Given the description of an element on the screen output the (x, y) to click on. 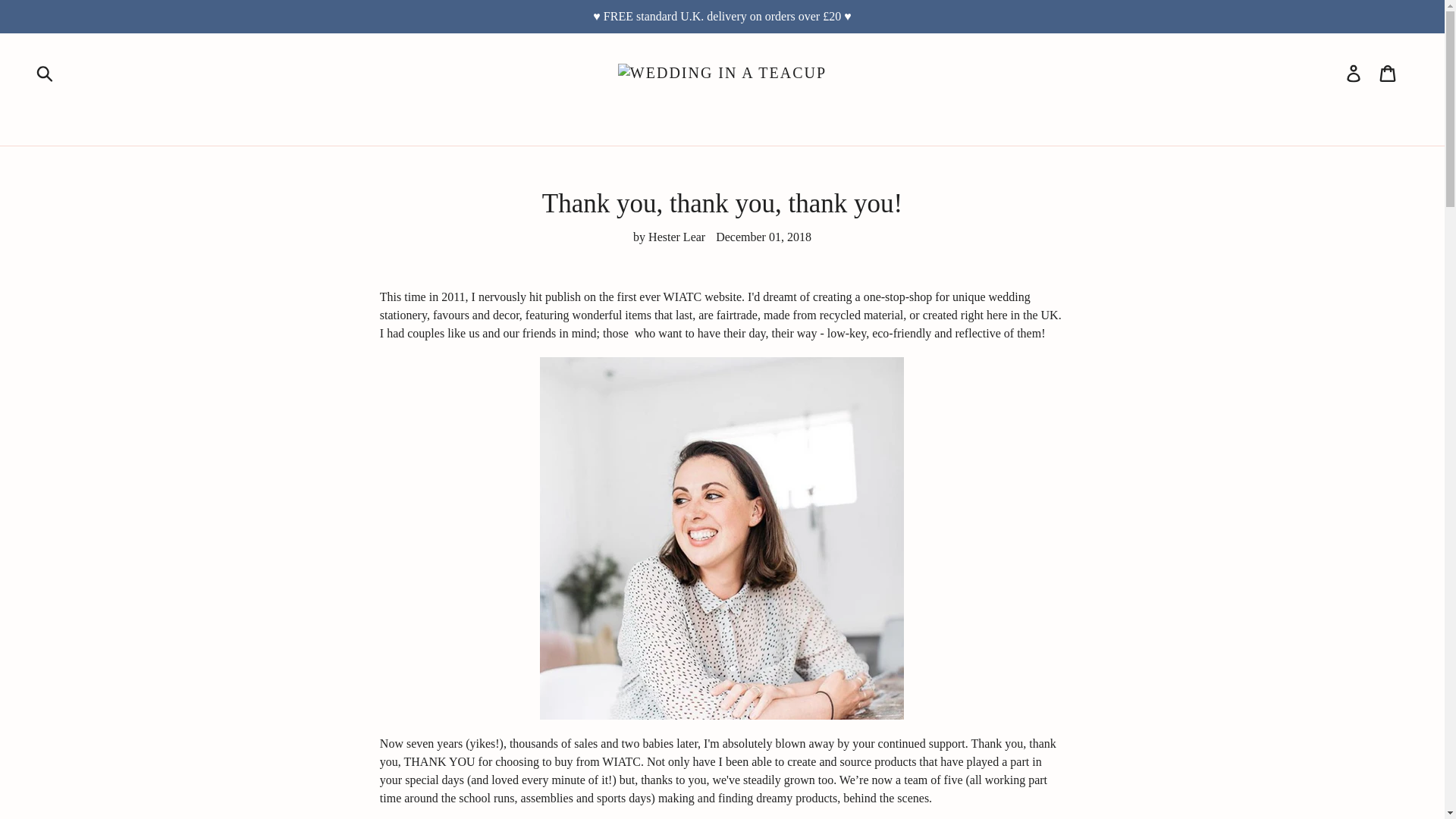
Submit (45, 72)
Log in (1354, 73)
Cart (1388, 73)
